Given the description of an element on the screen output the (x, y) to click on. 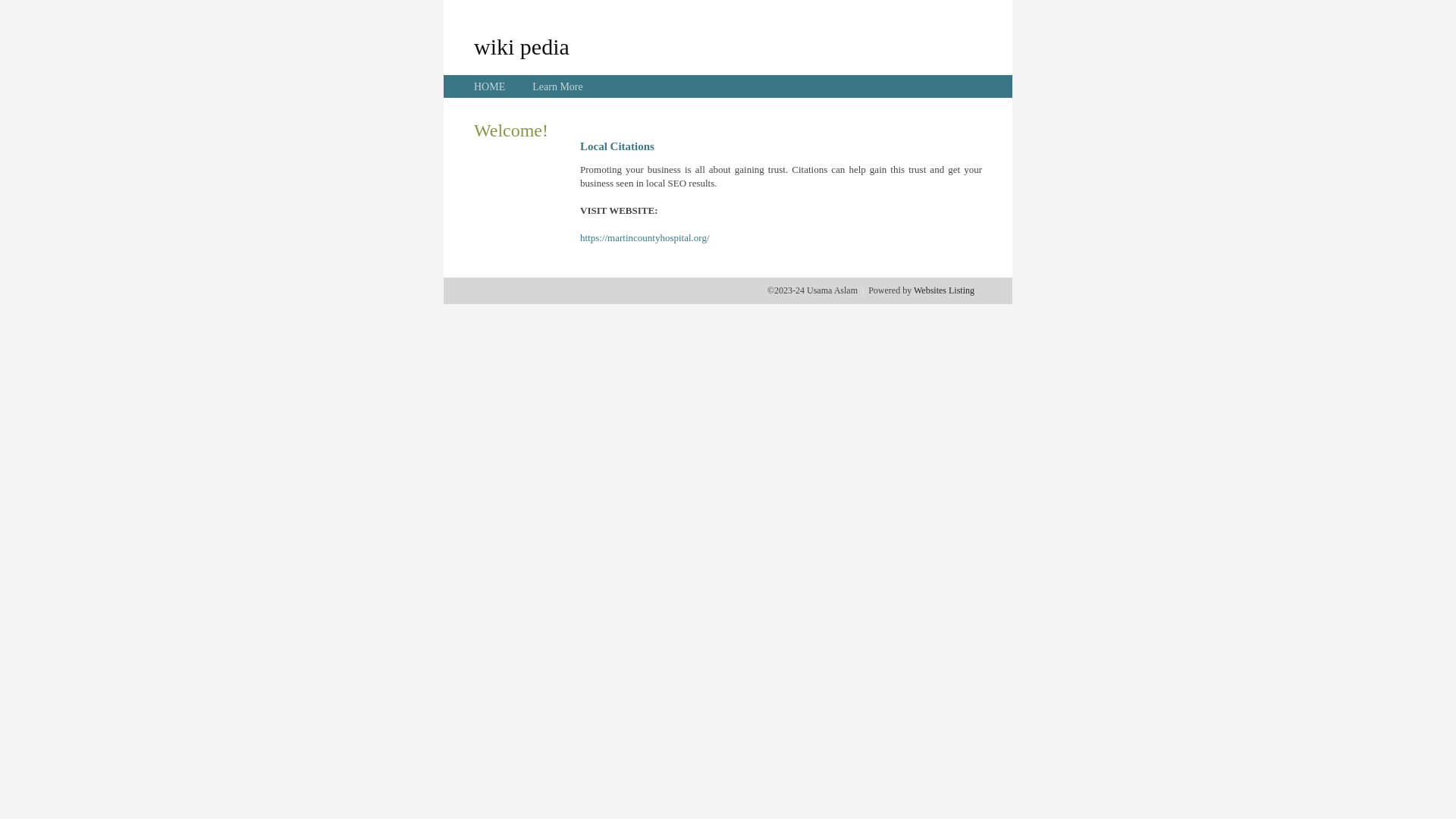
https://martincountyhospital.org/ Element type: text (644, 237)
HOME Element type: text (489, 86)
wiki pedia Element type: text (521, 46)
Websites Listing Element type: text (943, 290)
Learn More Element type: text (557, 86)
